Given the description of an element on the screen output the (x, y) to click on. 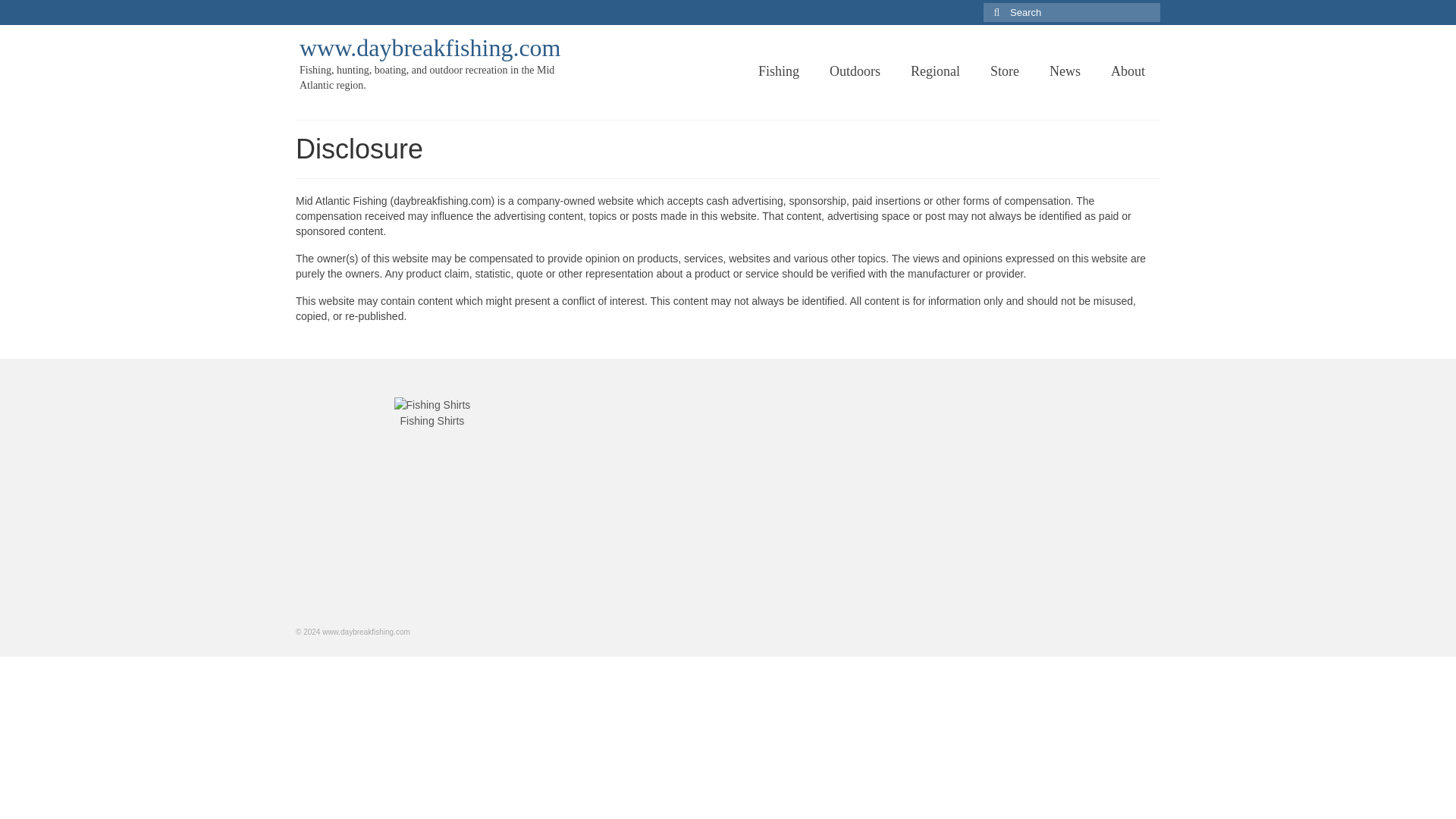
Regional (935, 70)
About (1128, 70)
www.daybreakfishing.com (429, 47)
Outdoors (854, 70)
Store (1004, 70)
Advertisement (727, 502)
Fishing (777, 70)
News (1064, 70)
